Given the description of an element on the screen output the (x, y) to click on. 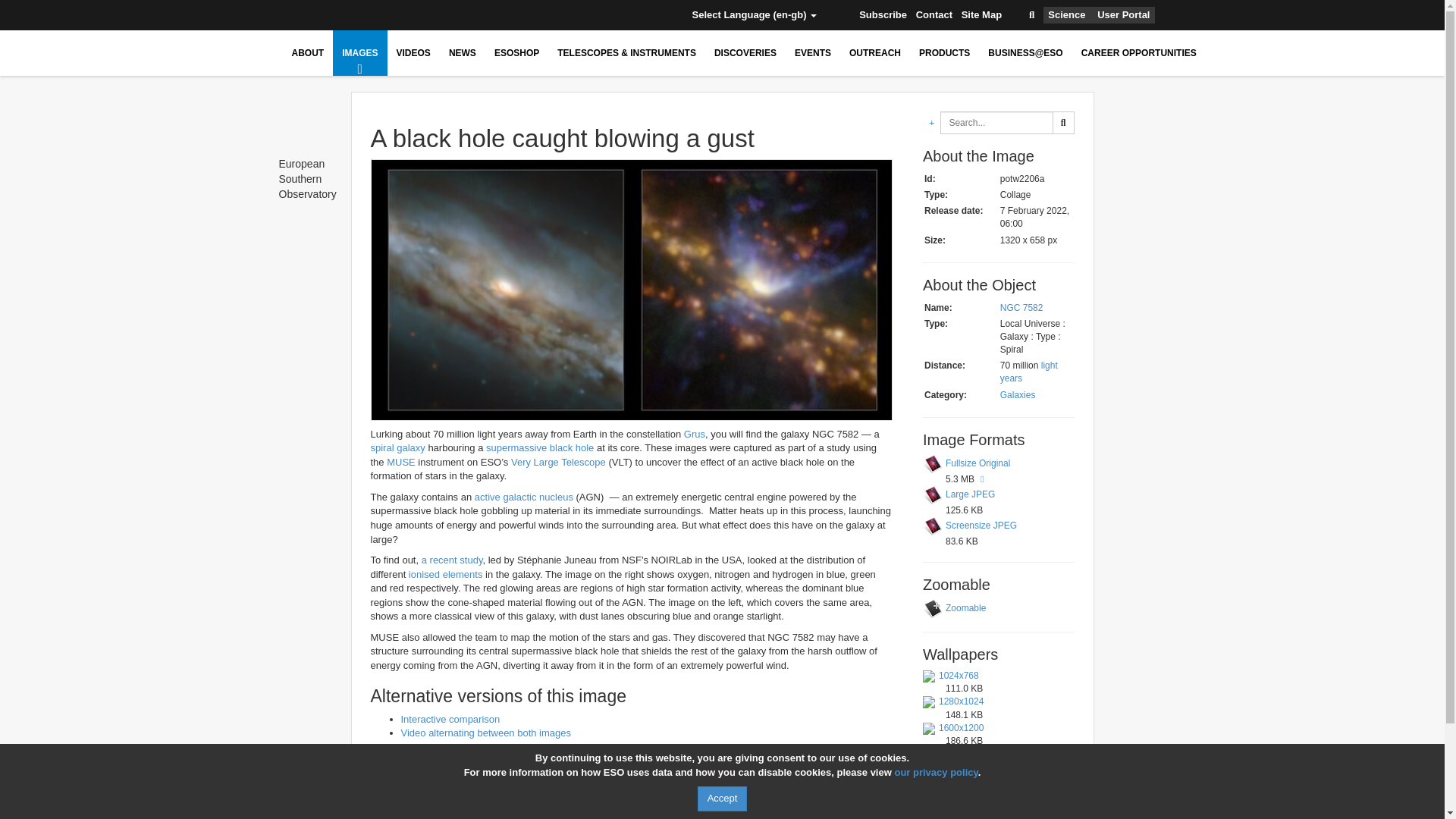
Finland (390, 15)
Italy (481, 15)
Czechia (344, 15)
Poland (525, 15)
Denmark (366, 15)
Austria (298, 15)
Ireland (458, 15)
Spain (570, 15)
Site Map (981, 15)
Sweden (593, 15)
